Given the description of an element on the screen output the (x, y) to click on. 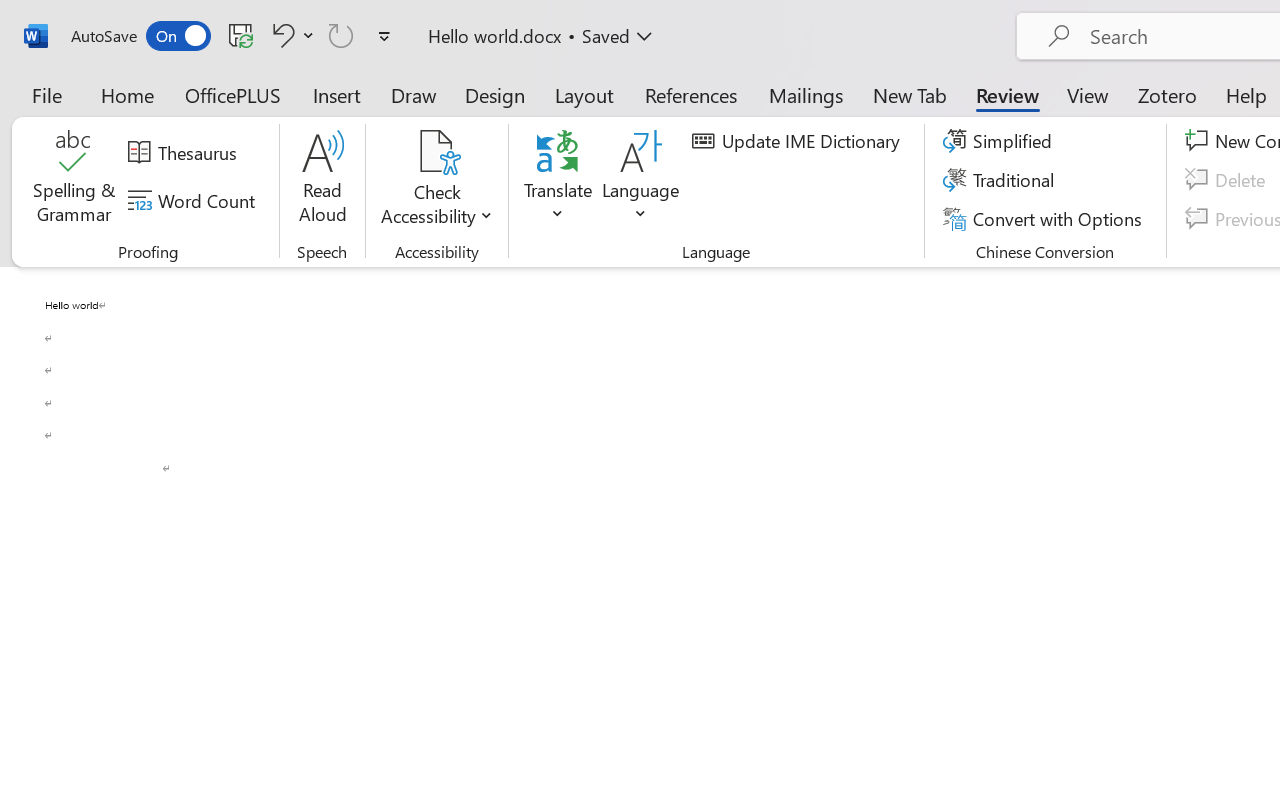
Can't Repeat (341, 35)
Check Accessibility (436, 179)
Translate (558, 179)
Read Aloud (322, 179)
Convert with Options... (1045, 218)
Home (127, 94)
View (1087, 94)
Zotero (1166, 94)
Traditional (1001, 179)
Save (241, 35)
Undo Click and Type Formatting (280, 35)
Check Accessibility (436, 151)
More Options (436, 208)
Undo Click and Type Formatting (290, 35)
Language (641, 179)
